Given the description of an element on the screen output the (x, y) to click on. 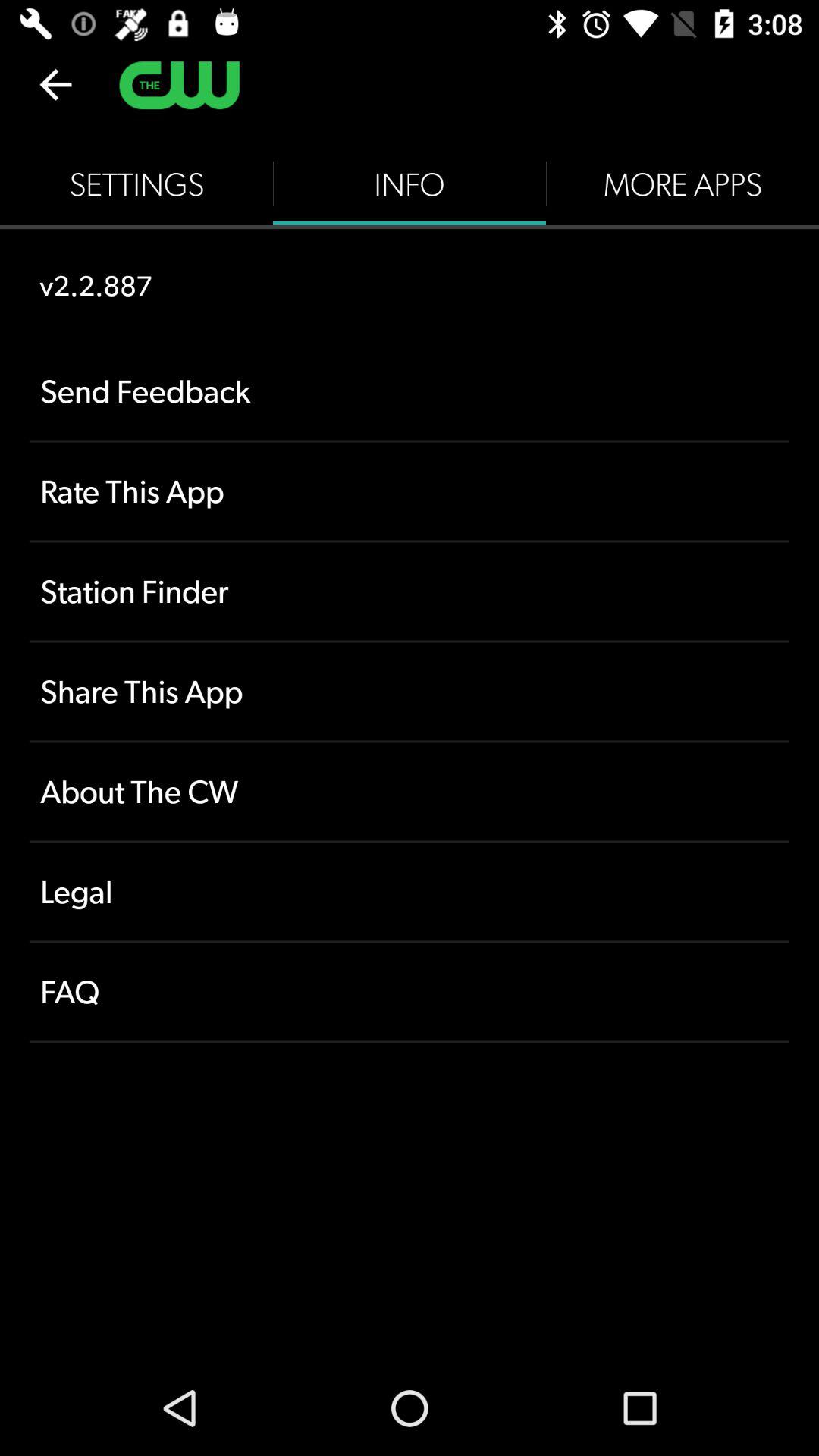
flip until legal (409, 891)
